Given the description of an element on the screen output the (x, y) to click on. 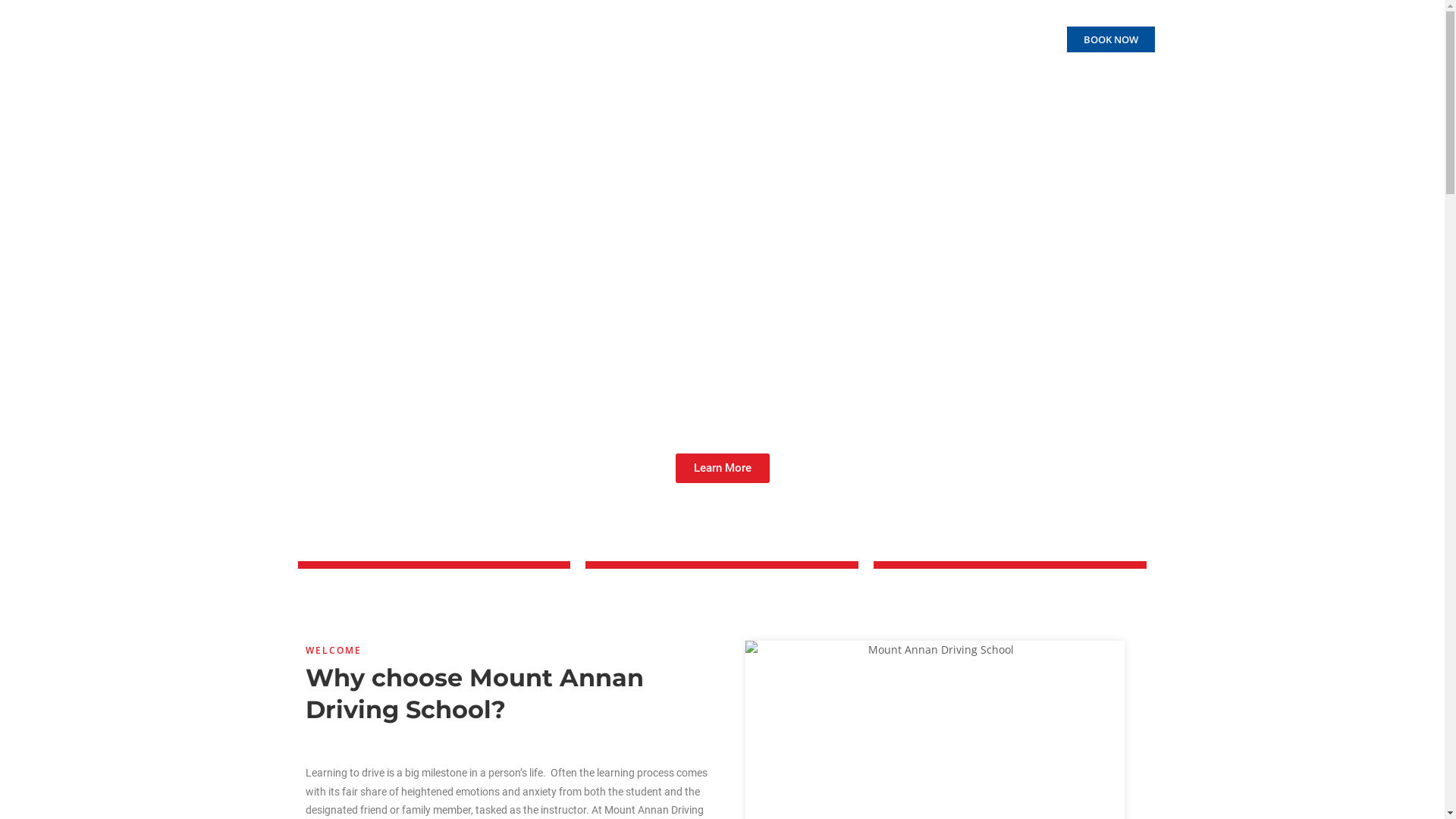
LESSONS Element type: text (790, 38)
COMMUNITY Element type: text (941, 38)
CONTACT Element type: text (1018, 38)
BOOK NOW Element type: text (1110, 39)
HOME Element type: text (675, 38)
Mount Annan Driving School Element type: hover (381, 39)
ABOUT Element type: text (728, 38)
Learn More Element type: text (721, 468)
BOOKINGS Element type: text (861, 38)
